Given the description of an element on the screen output the (x, y) to click on. 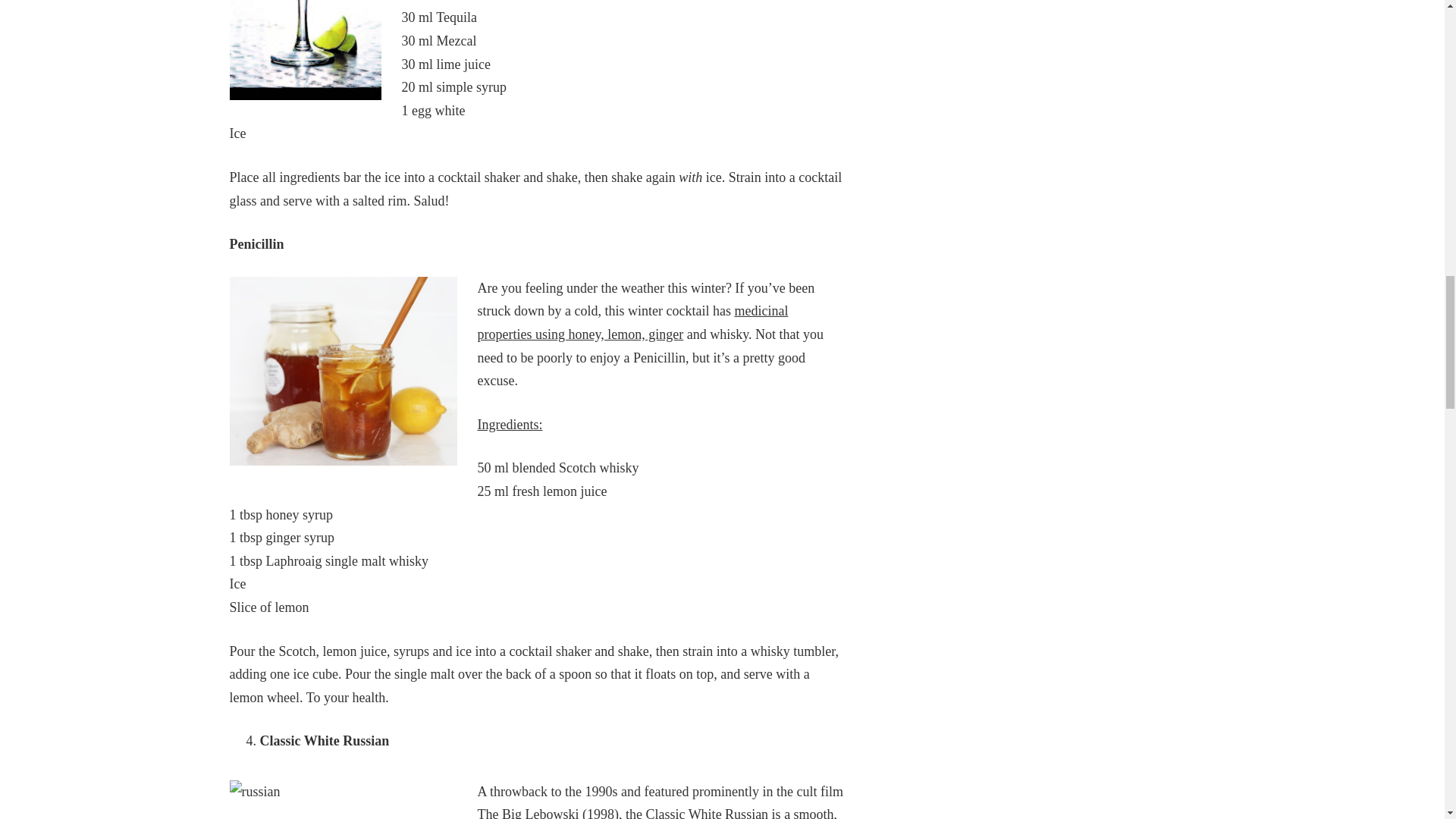
The Big Lebowski (528, 812)
medicinal properties using honey, lemon, ginger (633, 322)
